Given the description of an element on the screen output the (x, y) to click on. 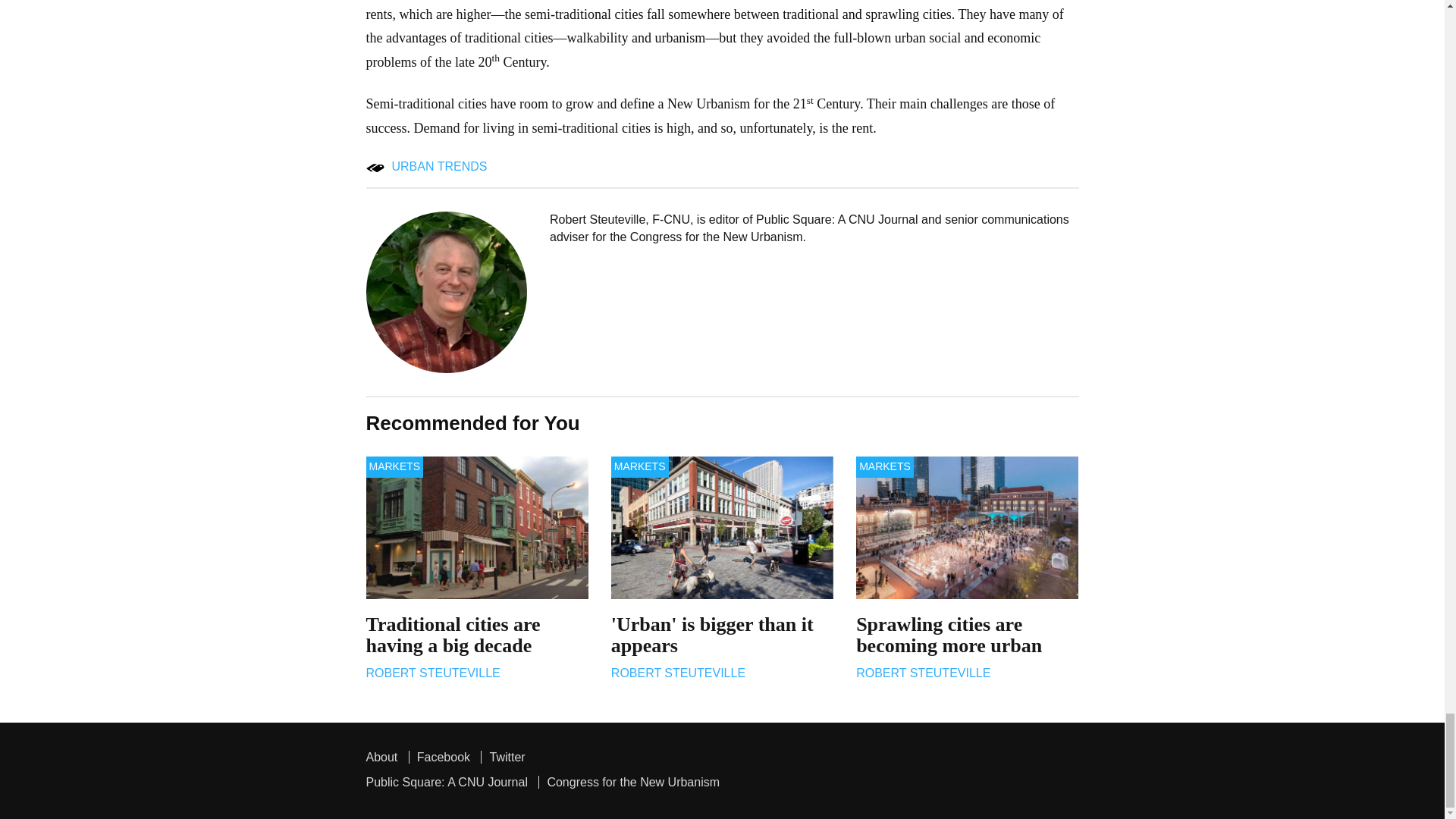
Sprawling cities are becoming more urban (967, 527)
'Urban' is bigger than it appears  (721, 527)
Traditional cities are having a big decade (476, 527)
